Given the description of an element on the screen output the (x, y) to click on. 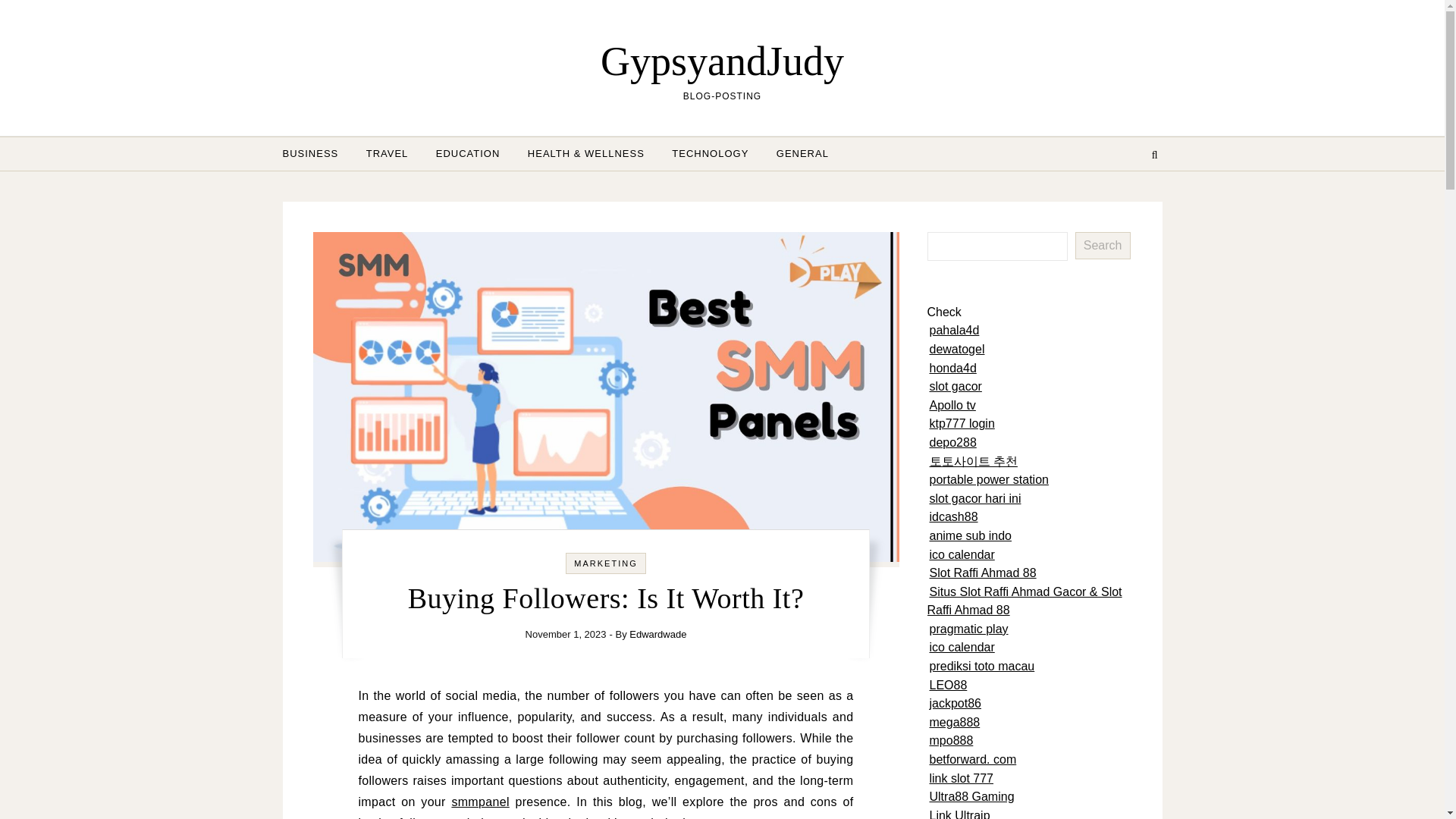
pahala4d (954, 329)
TRAVEL (386, 153)
Apollo tv (952, 404)
dewatogel (957, 349)
EDUCATION (467, 153)
BUSINESS (316, 153)
honda4d (953, 367)
GypsyandJudy (722, 61)
Search (1103, 245)
smmpanel (479, 801)
slot gacor (955, 386)
Edwardwade (656, 633)
Posts by Edwardwade (656, 633)
TECHNOLOGY (709, 153)
MARKETING (605, 563)
